Given the description of an element on the screen output the (x, y) to click on. 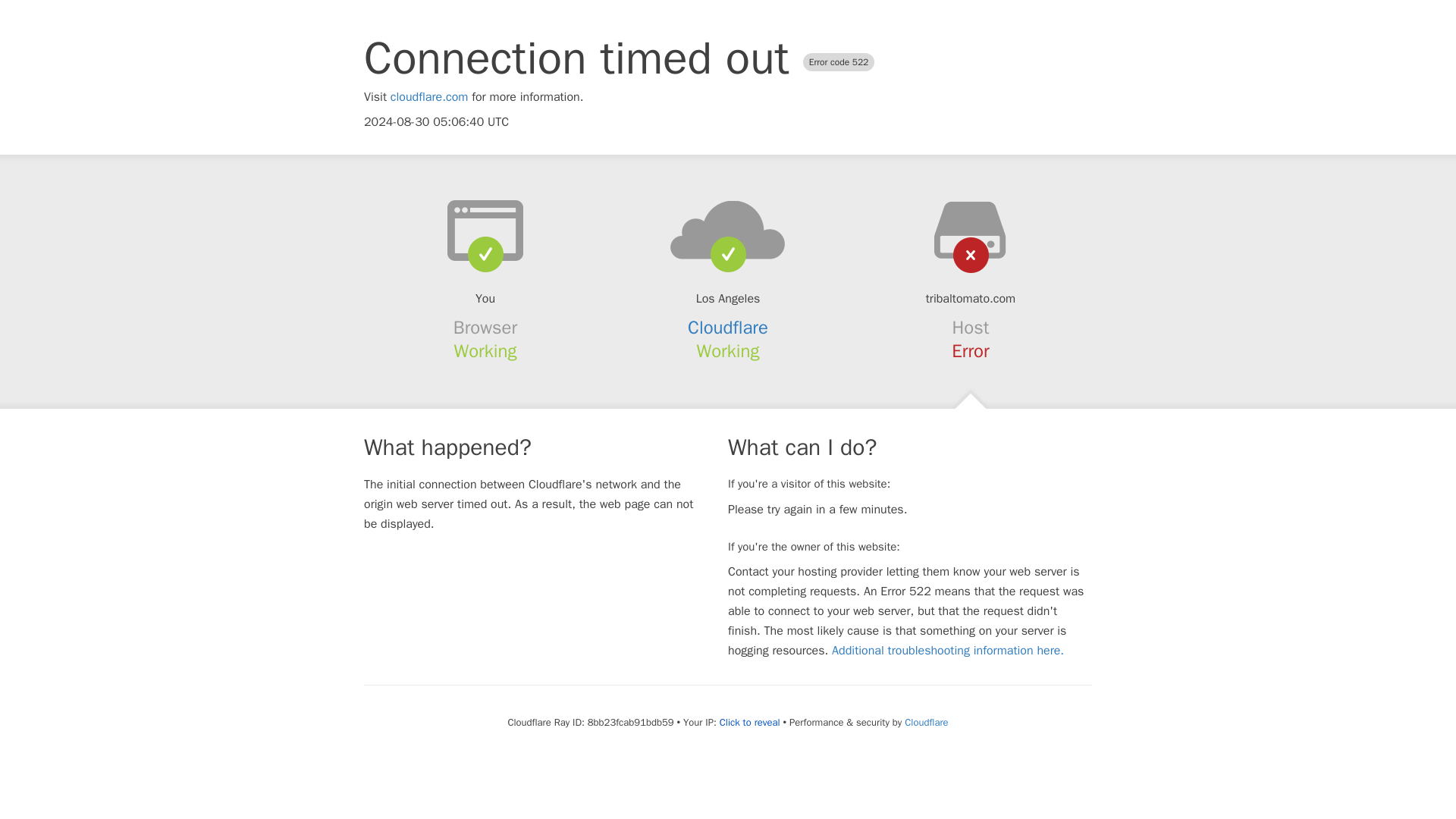
cloudflare.com (429, 96)
Cloudflare (925, 721)
Cloudflare (727, 327)
Additional troubleshooting information here. (947, 650)
Click to reveal (749, 722)
